Given the description of an element on the screen output the (x, y) to click on. 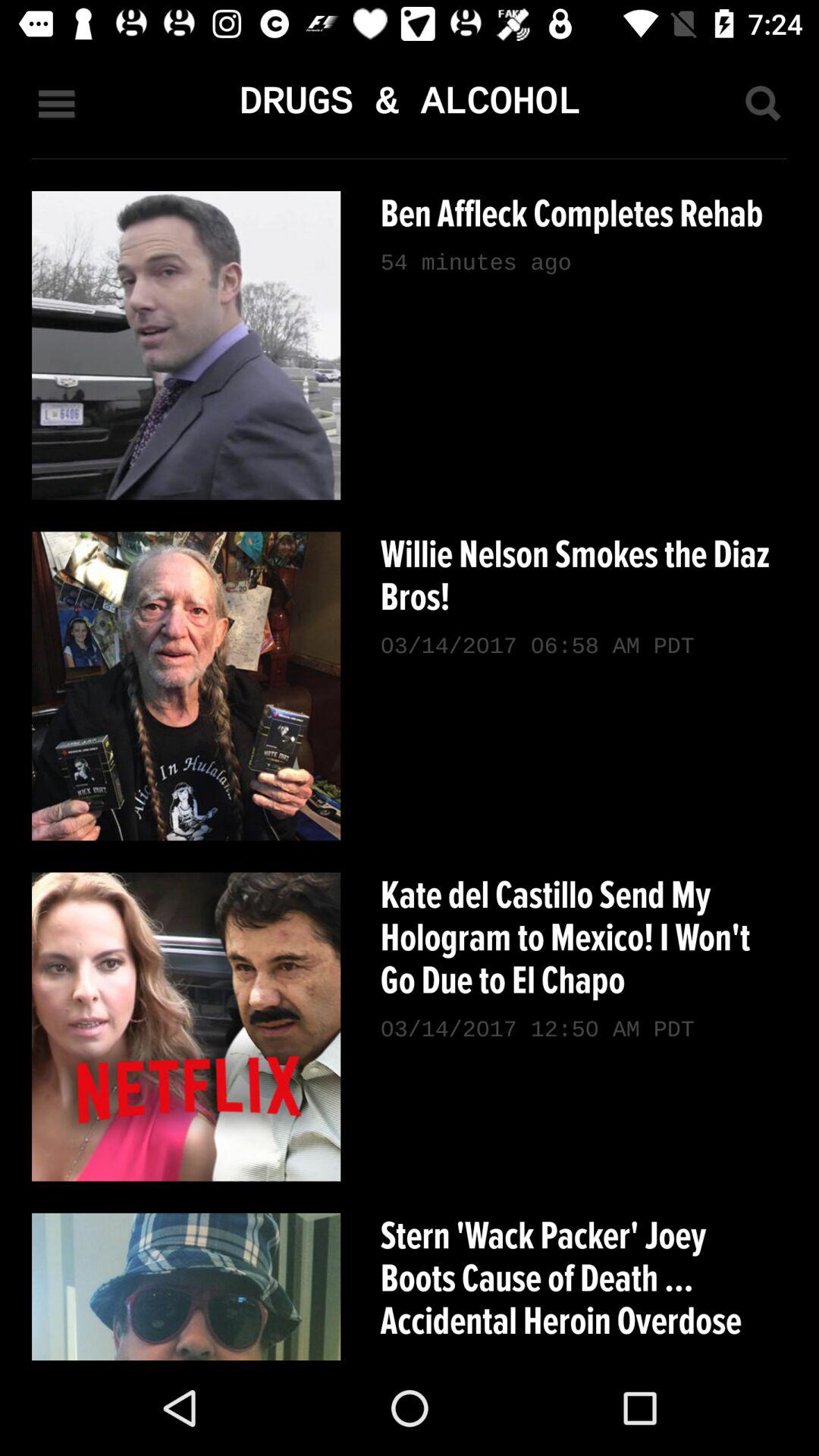
zoom in (762, 103)
